Given the description of an element on the screen output the (x, y) to click on. 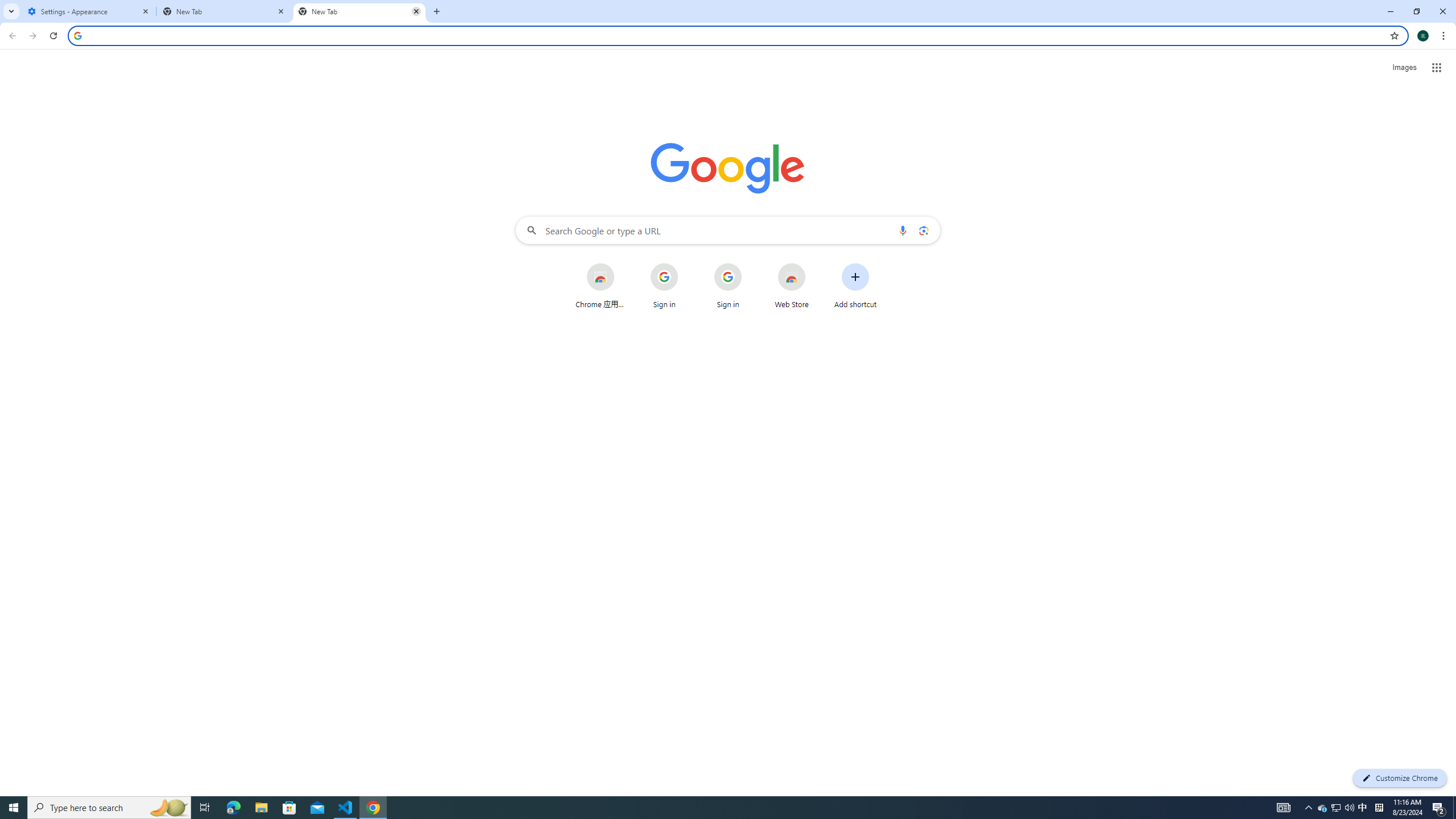
Settings - Appearance (88, 11)
More actions for Web Store shortcut (814, 264)
Web Store (792, 285)
Search Google or type a URL (727, 230)
